Given the description of an element on the screen output the (x, y) to click on. 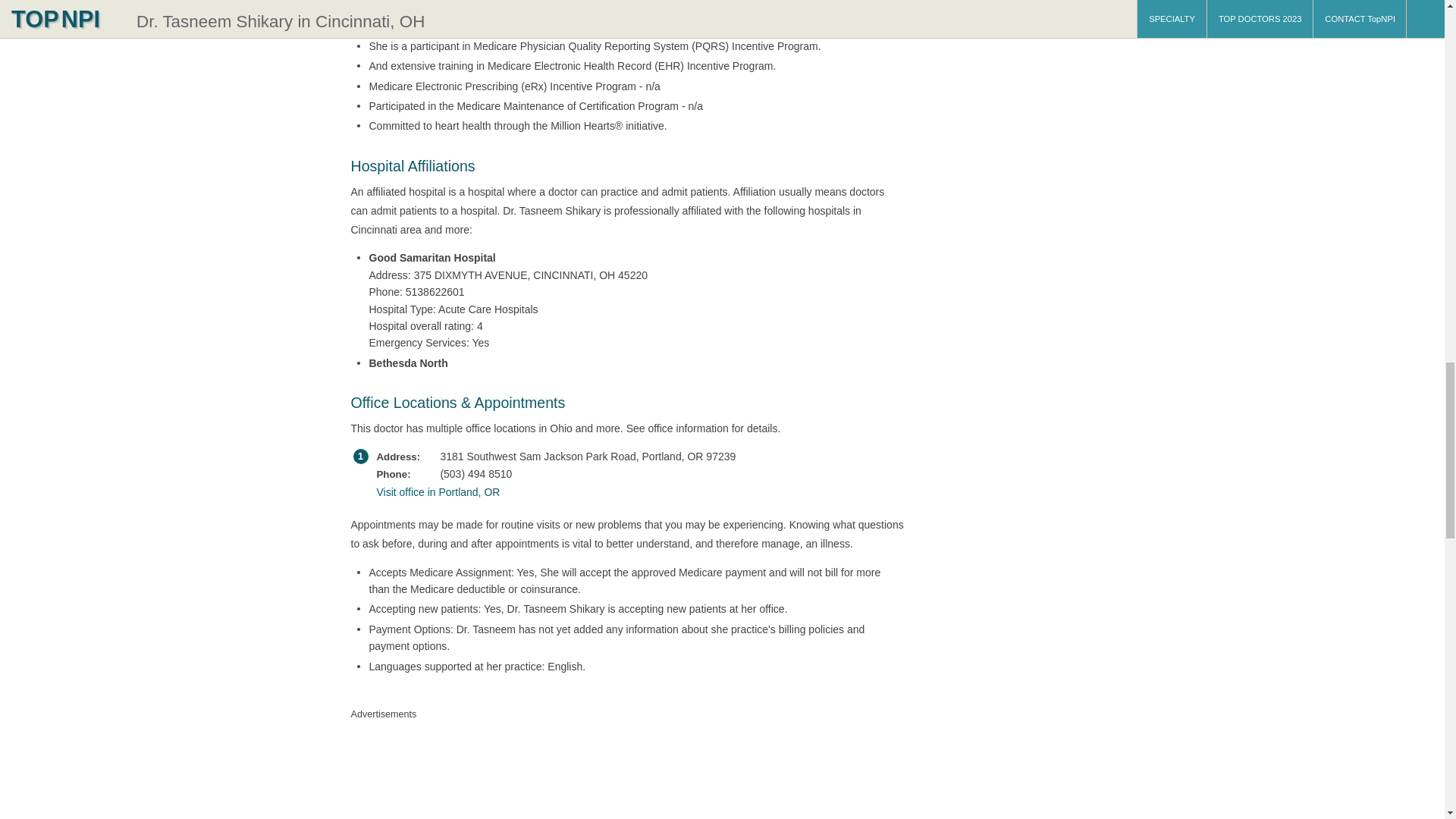
Office in Portland, OR (622, 492)
Visit office in Portland, OR (622, 492)
